Given the description of an element on the screen output the (x, y) to click on. 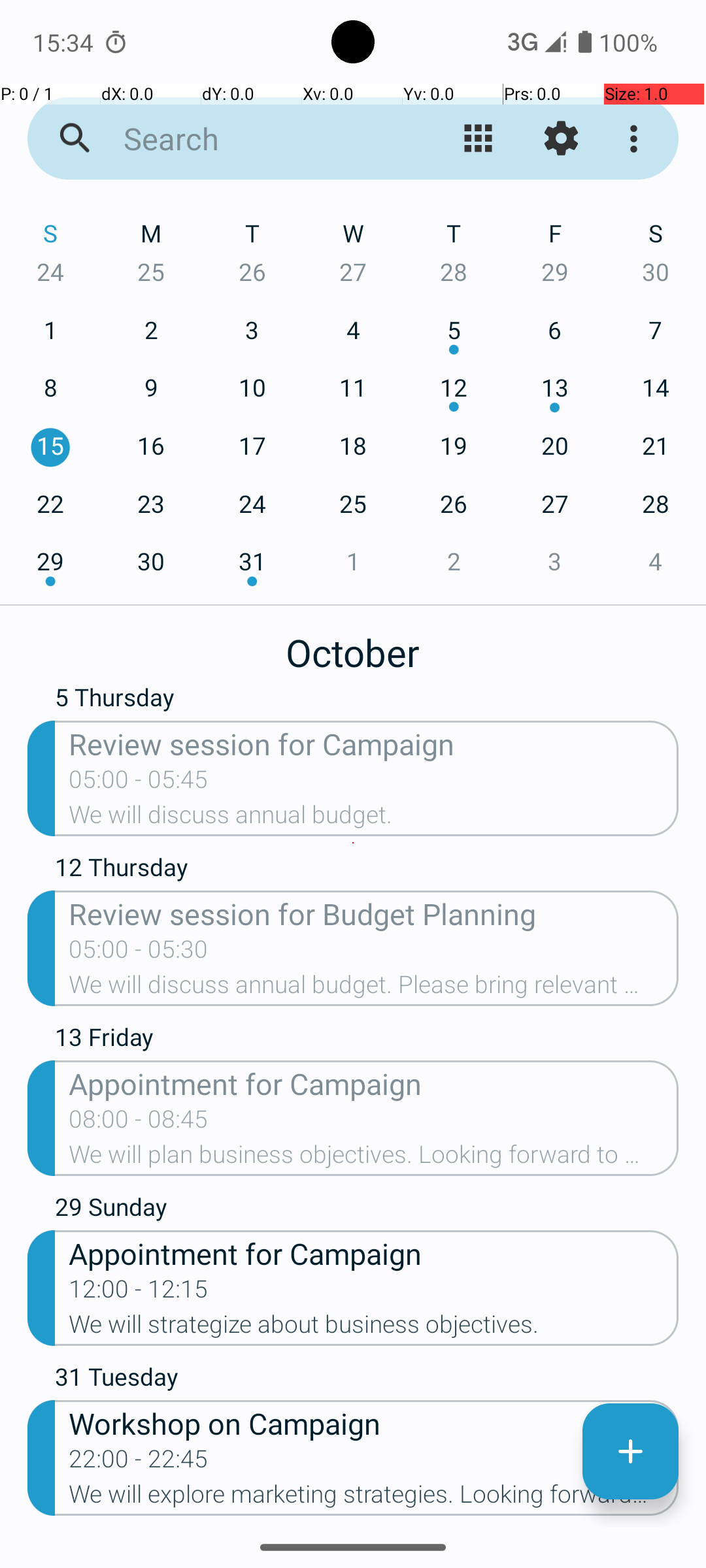
5 Thursday Element type: android.widget.TextView (366, 702)
12 Thursday Element type: android.widget.TextView (366, 869)
13 Friday Element type: android.widget.TextView (366, 1039)
29 Sunday Element type: android.widget.TextView (366, 1209)
31 Tuesday Element type: android.widget.TextView (366, 1379)
Review session for Campaign Element type: android.widget.TextView (373, 742)
05:00 - 05:45 Element type: android.widget.TextView (137, 782)
We will discuss annual budget. Element type: android.widget.TextView (373, 818)
Review session for Budget Planning Element type: android.widget.TextView (373, 912)
05:00 - 05:30 Element type: android.widget.TextView (137, 952)
We will discuss annual budget. Please bring relevant documents. Element type: android.widget.TextView (373, 988)
Appointment for Campaign Element type: android.widget.TextView (373, 1082)
08:00 - 08:45 Element type: android.widget.TextView (137, 1122)
We will plan business objectives. Looking forward to productive discussions. Element type: android.widget.TextView (373, 1158)
12:00 - 12:15 Element type: android.widget.TextView (137, 1292)
We will strategize about business objectives. Element type: android.widget.TextView (373, 1327)
Workshop on Campaign Element type: android.widget.TextView (373, 1422)
22:00 - 22:45 Element type: android.widget.TextView (137, 1462)
We will explore marketing strategies. Looking forward to productive discussions. Element type: android.widget.TextView (373, 1497)
